Given the description of an element on the screen output the (x, y) to click on. 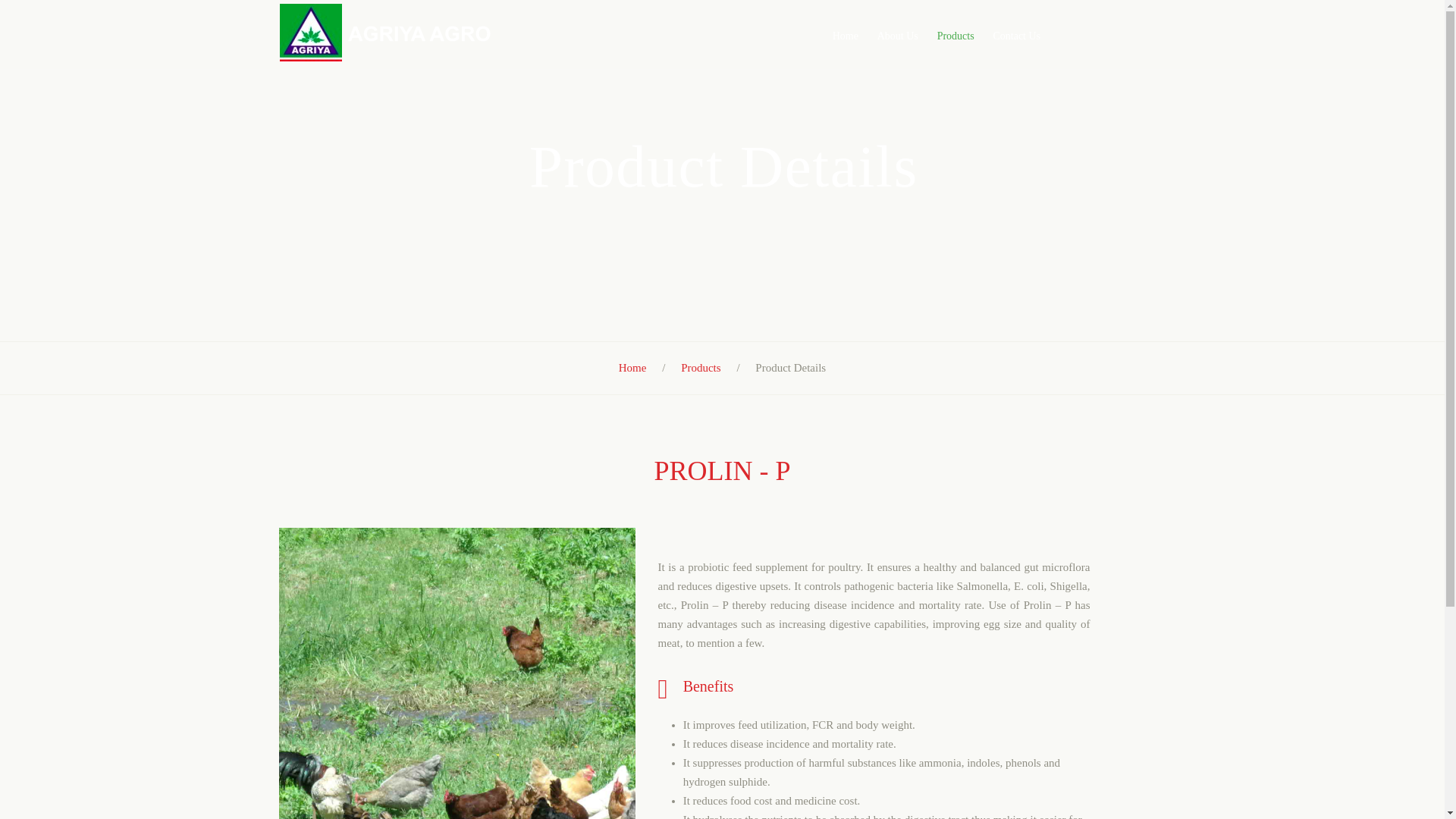
About Us (897, 36)
Products (955, 36)
Home (845, 36)
Contact Us (1016, 36)
Products (700, 367)
Home (632, 367)
